Given the description of an element on the screen output the (x, y) to click on. 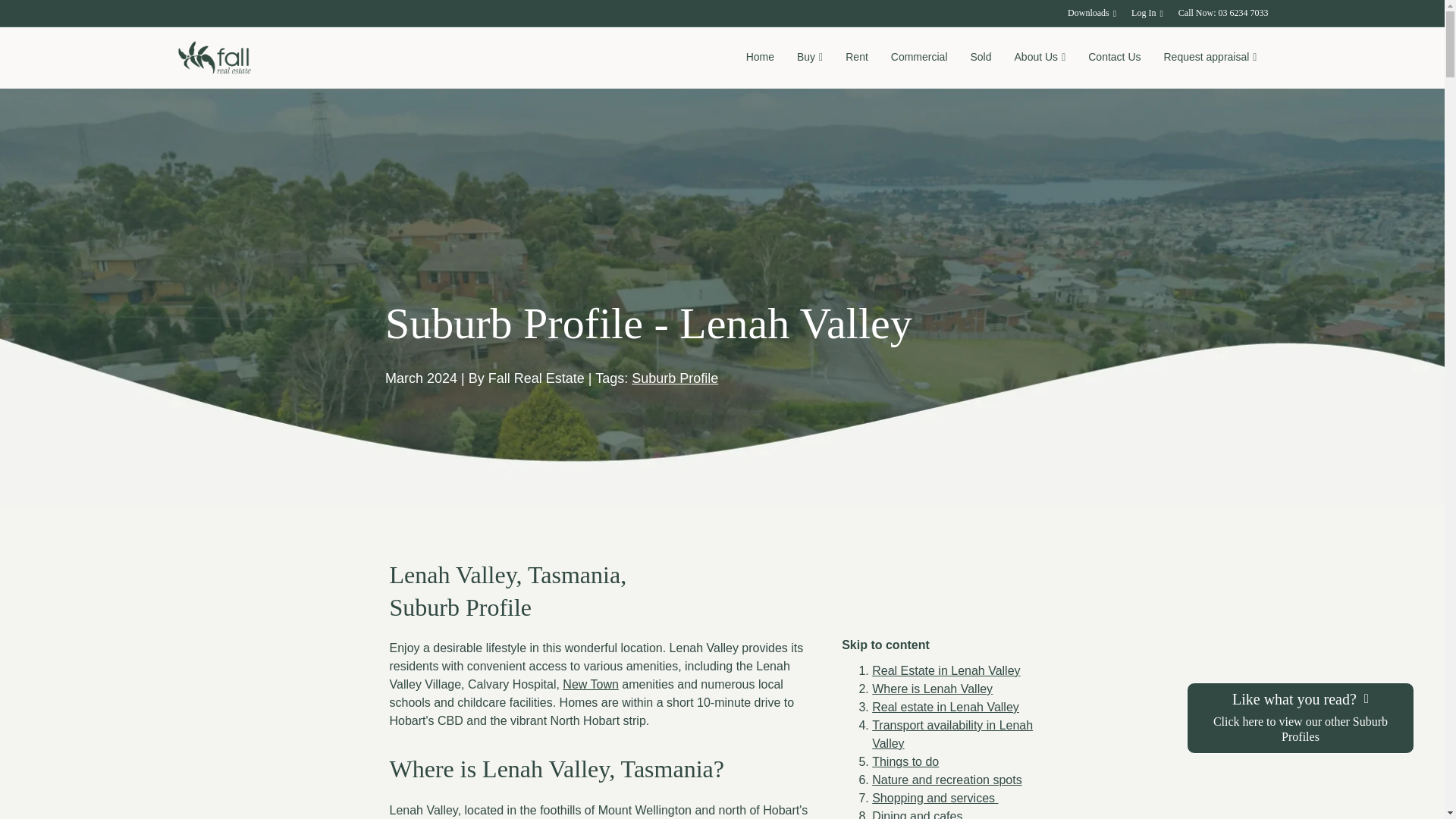
Suburb Profile (674, 378)
Contact Us (1114, 57)
Rent (856, 57)
About Us (1040, 57)
Sold (980, 57)
New Town (590, 684)
Request appraisal (1210, 57)
Buy (810, 57)
Call Now: 03 6234 7033 (1223, 13)
Commercial (919, 57)
Downloads (1091, 13)
Log In (1147, 13)
Home (760, 57)
